Given the description of an element on the screen output the (x, y) to click on. 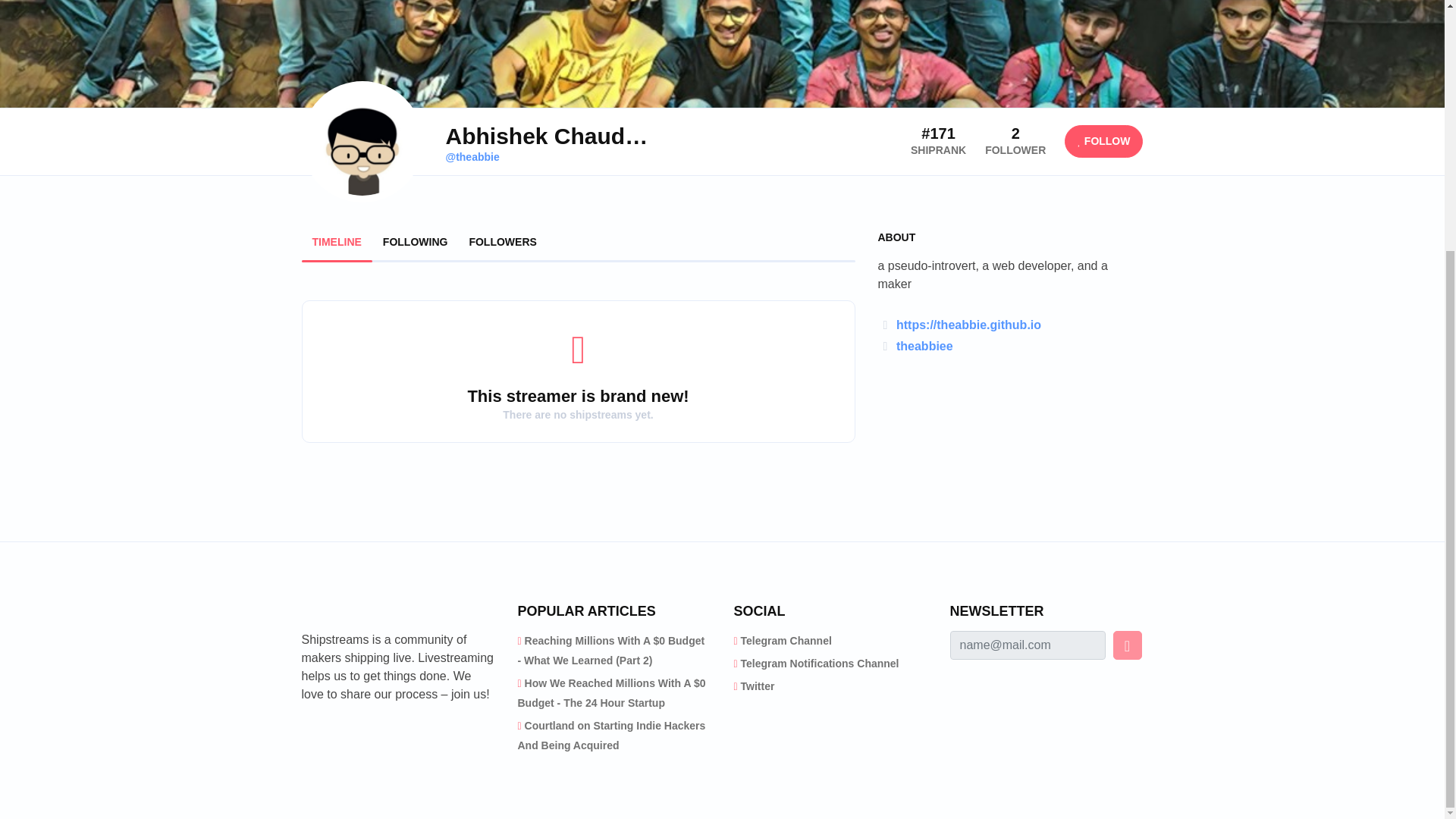
TIMELINE (337, 241)
FOLLOW (1103, 141)
Telegram Notifications Channel (820, 663)
FOLLOWERS (501, 241)
Twitter (757, 686)
theabbiee (924, 345)
Courtland on Starting Indie Hackers And Being Acquired (610, 735)
FOLLOWING (415, 241)
Telegram Channel (786, 640)
